Given the description of an element on the screen output the (x, y) to click on. 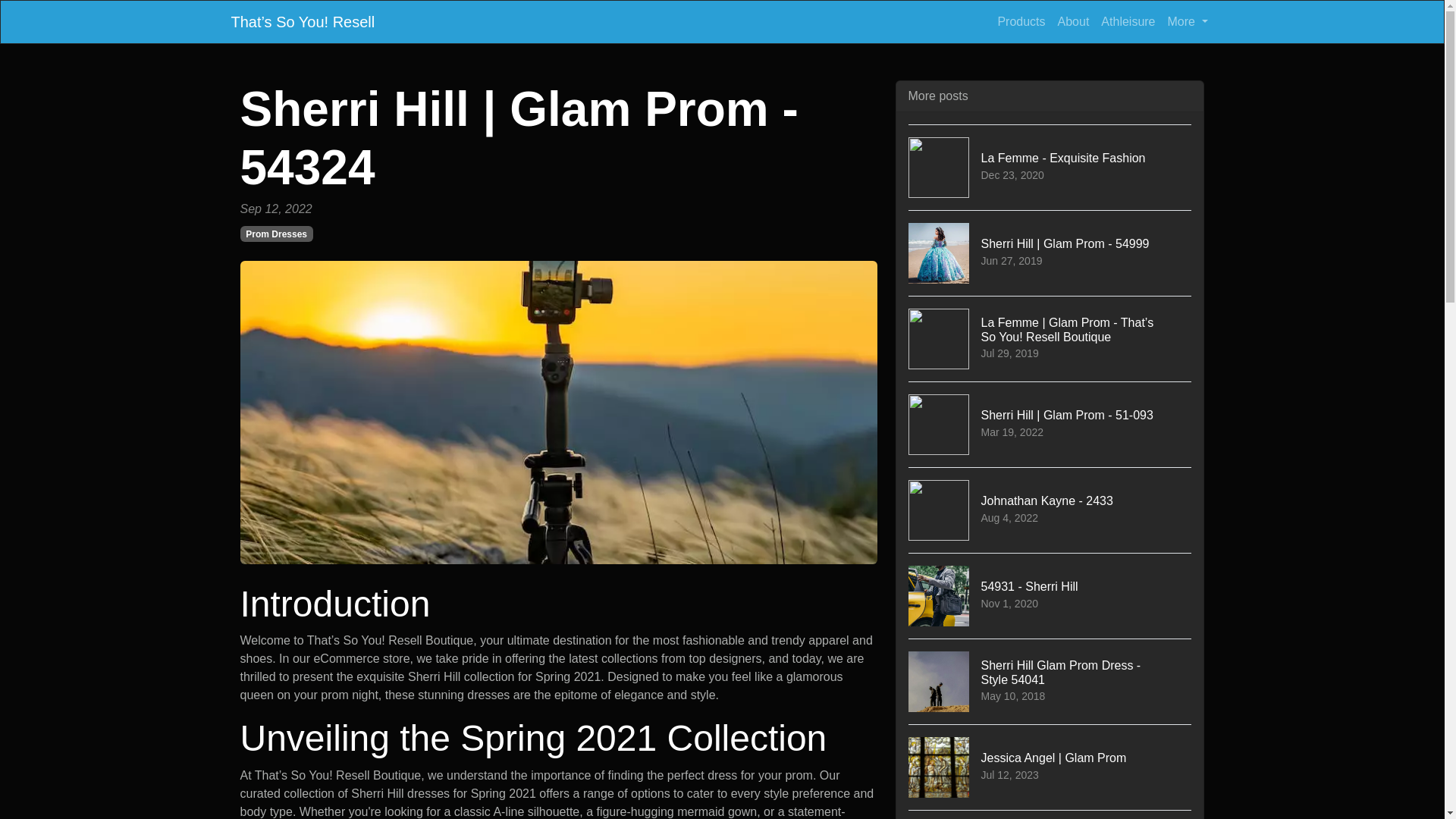
Products (1050, 166)
About (1021, 21)
More (1050, 595)
Athleisure (1073, 21)
Prom Dresses (1187, 21)
